Given the description of an element on the screen output the (x, y) to click on. 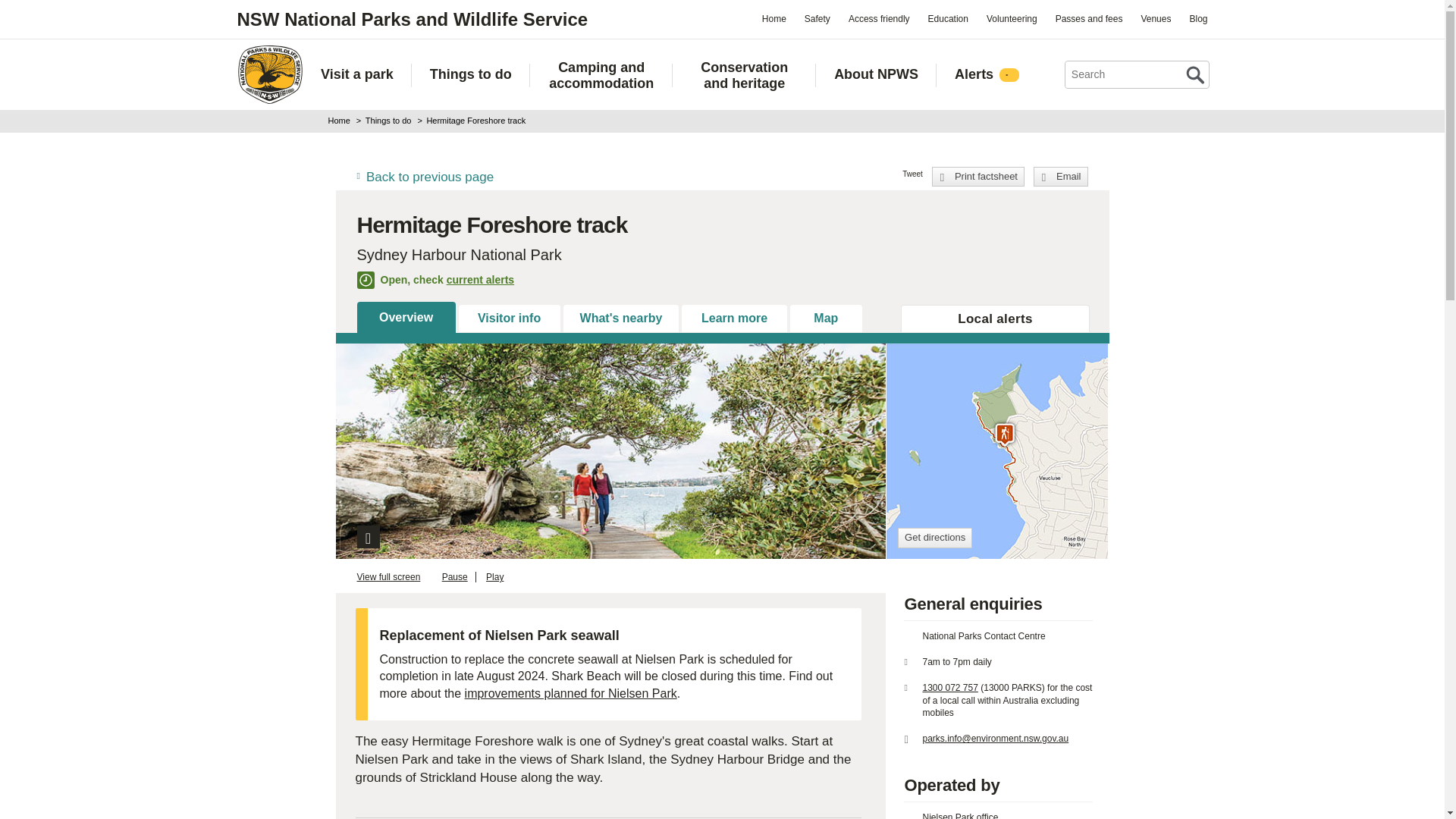
Volunteering (1011, 18)
Print-friendly version of these webpages (978, 176)
Safety (816, 18)
About NPWS (876, 74)
Home (773, 18)
Things to do (470, 74)
Venues (1155, 18)
Passes and fees (1089, 18)
Home (268, 74)
Access friendly (879, 18)
